Given the description of an element on the screen output the (x, y) to click on. 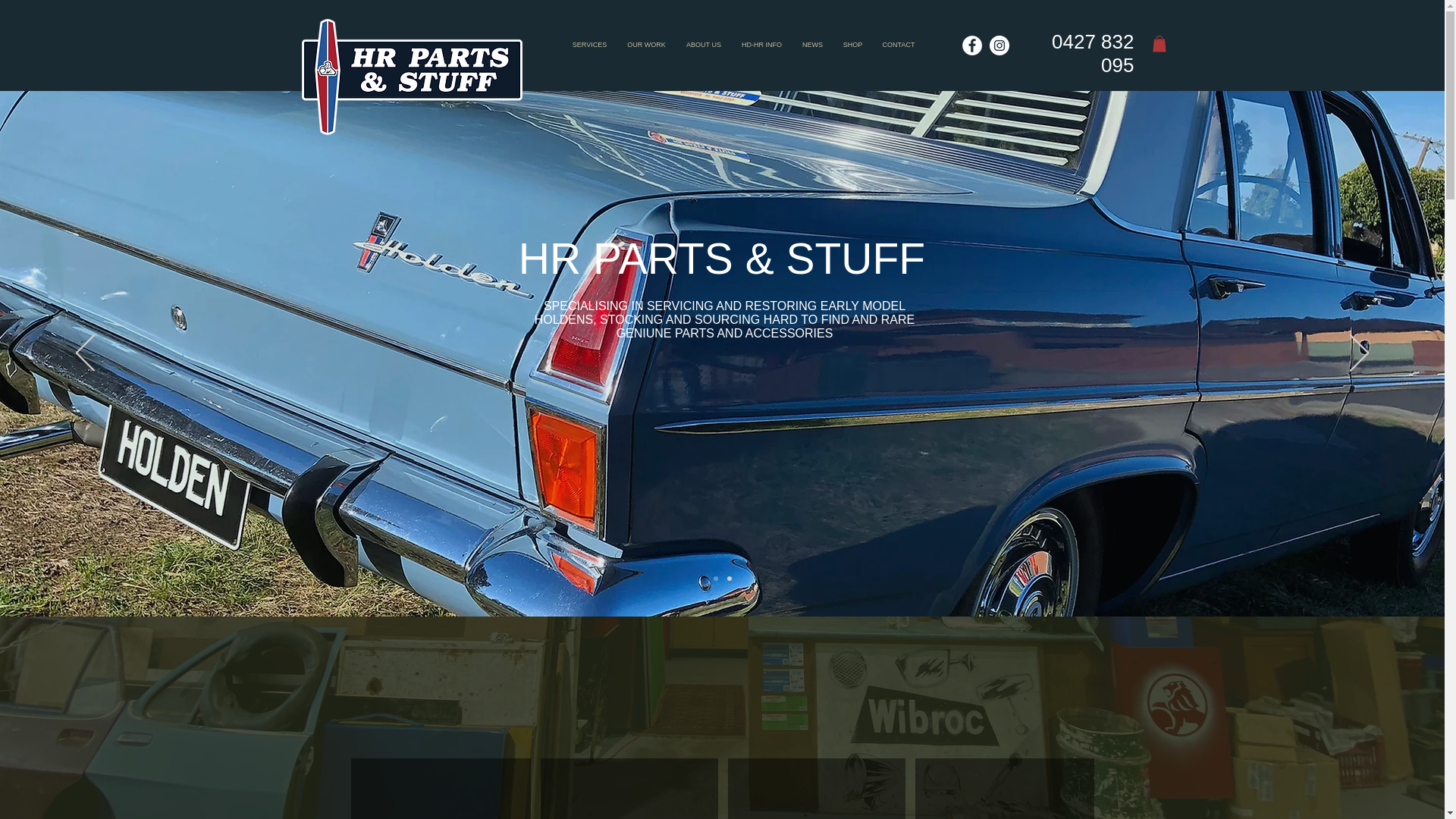
OUR WORK (647, 45)
NEWS (812, 45)
SHOP (852, 45)
ABOUT US (704, 45)
SERVICES (589, 45)
CONTACT (898, 45)
